Given the description of an element on the screen output the (x, y) to click on. 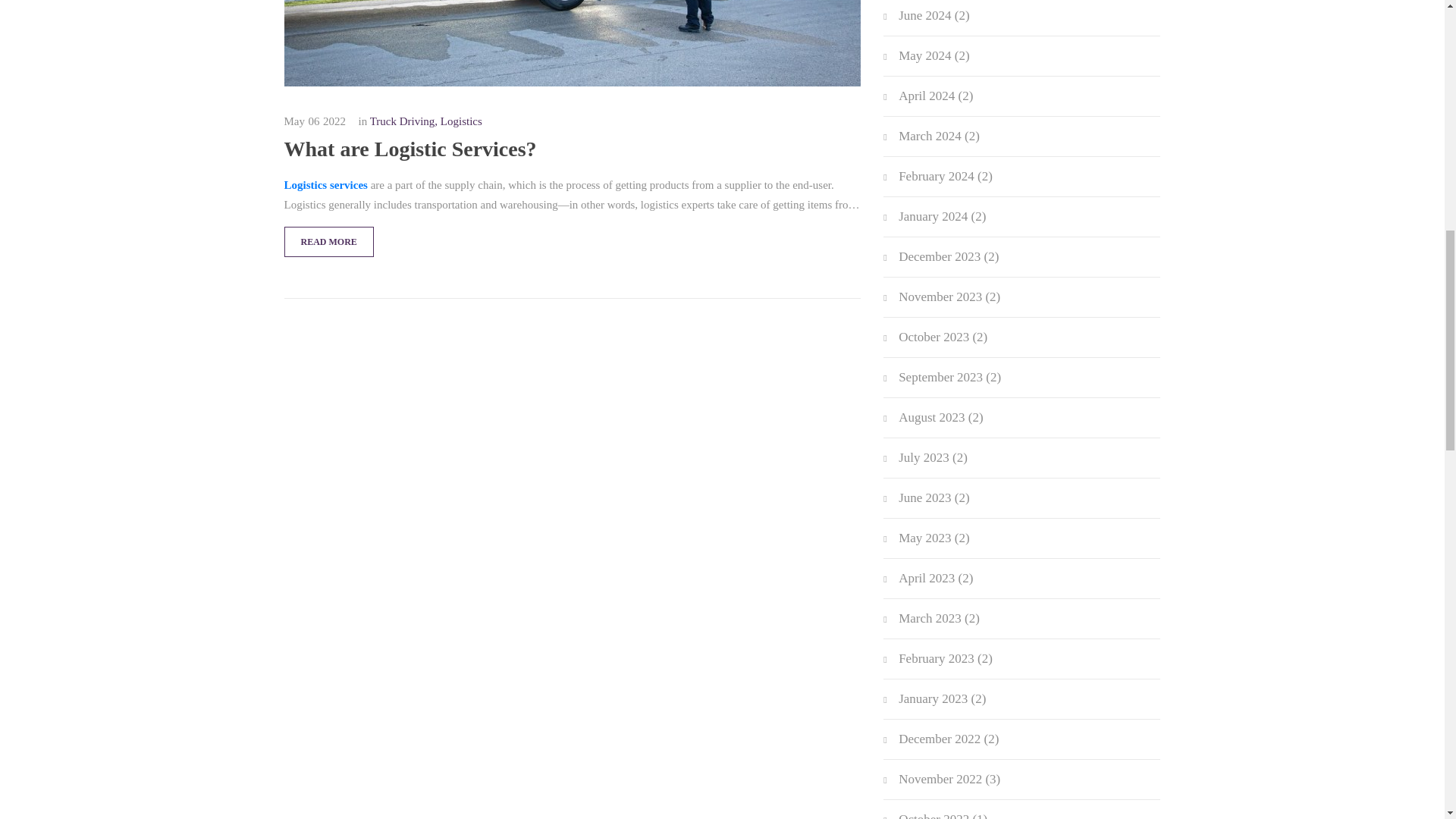
July 2023 (923, 457)
READ MORE (327, 241)
August 2023 (930, 417)
March 2024 (929, 135)
December 2023 (938, 256)
February 2024 (936, 175)
June 2023 (924, 497)
June 2024 (924, 15)
January 2024 (933, 216)
Logistics services (324, 184)
October 2023 (933, 336)
What are Logistic Services? (571, 148)
May 2024 (924, 55)
April 2024 (926, 95)
September 2023 (940, 377)
